Given the description of an element on the screen output the (x, y) to click on. 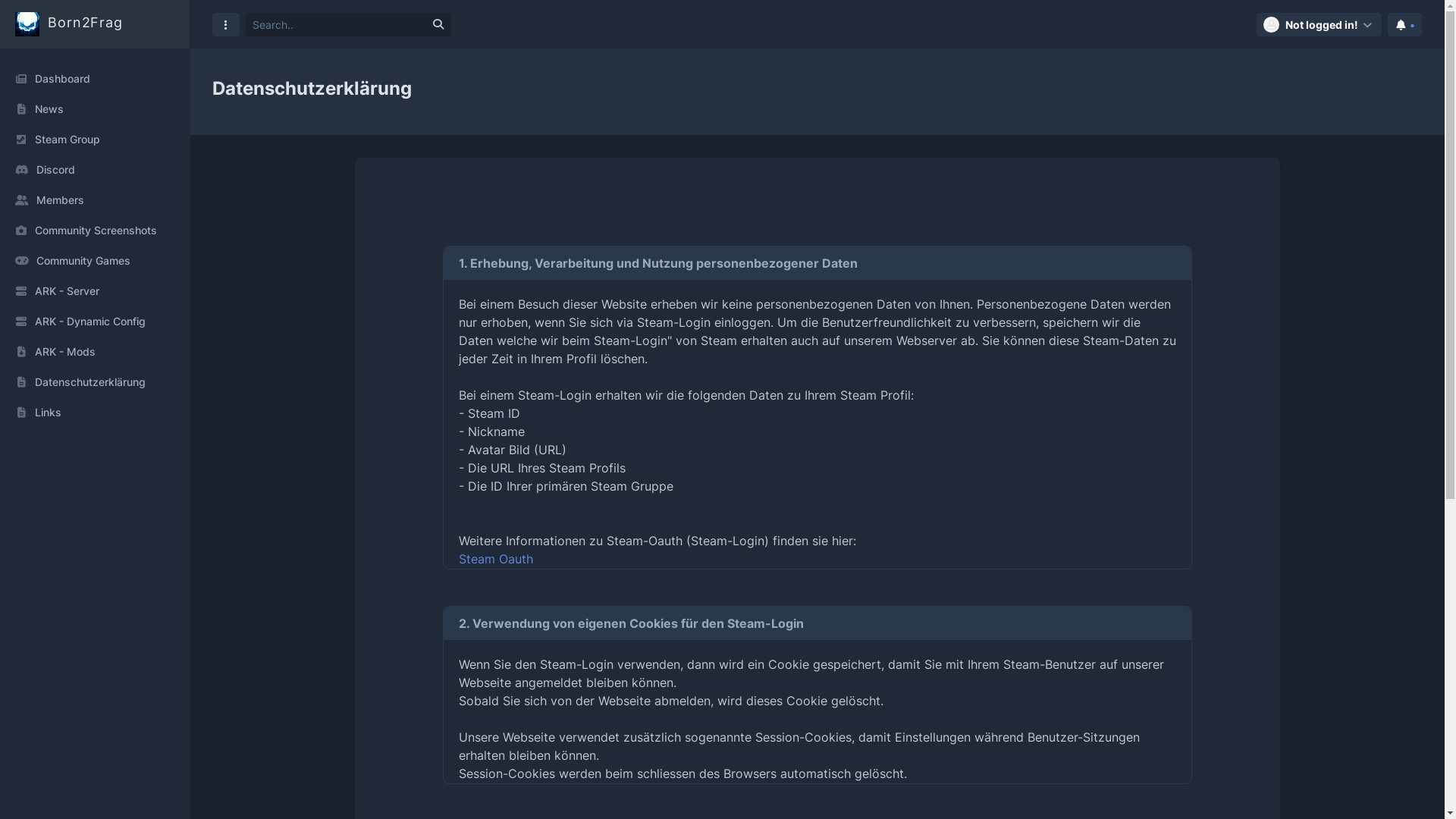
Community Screenshots Element type: text (94, 230)
Steam Oauth Element type: text (495, 558)
Community Games Element type: text (94, 260)
Discord Element type: text (94, 169)
ARK - Dynamic Config Element type: text (94, 321)
News Element type: text (94, 109)
ARK - Server Element type: text (94, 291)
Members Element type: text (94, 200)
ARK - Mods Element type: text (94, 351)
Dashboard Element type: text (94, 78)
Links Element type: text (94, 412)
 Born2Frag Element type: text (68, 24)
Steam Group Element type: text (94, 139)
Not logged in! Element type: text (1318, 23)
